Given the description of an element on the screen output the (x, y) to click on. 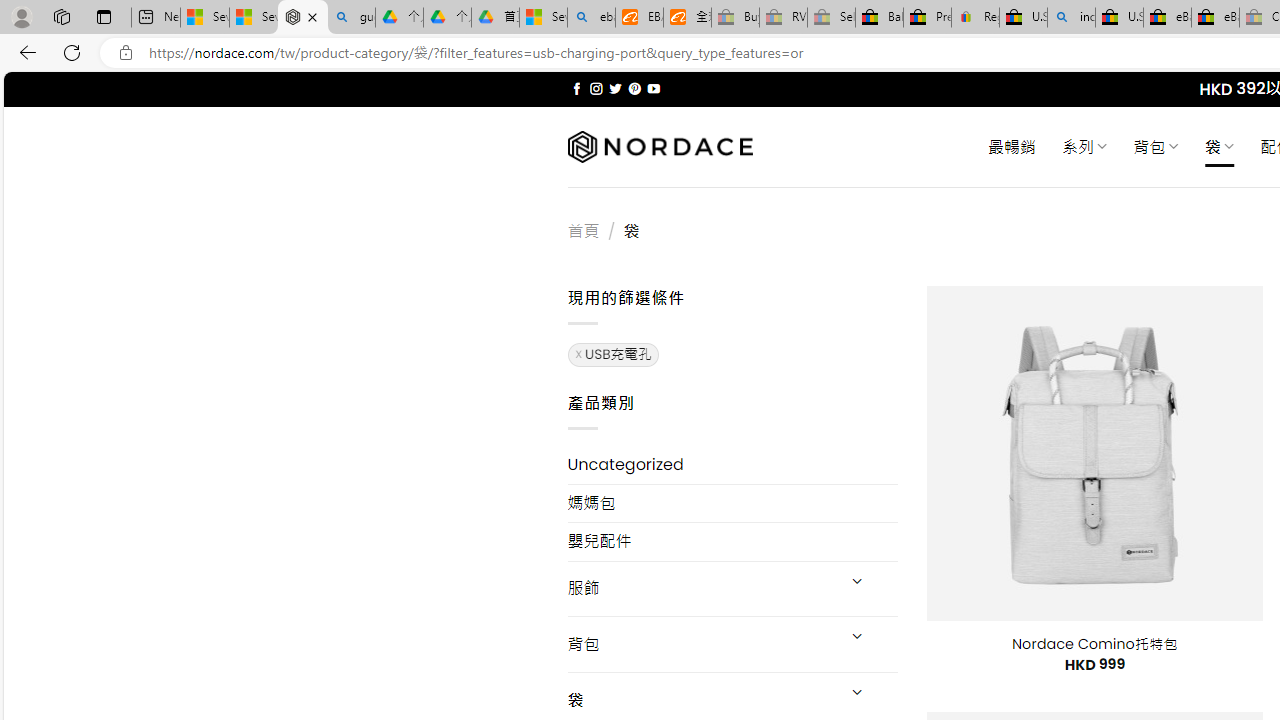
Baby Keepsakes & Announcements for sale | eBay (879, 17)
Follow on Facebook (576, 88)
U.S. State Privacy Disclosures - eBay Inc. (1119, 17)
Press Room - eBay Inc. (927, 17)
Uncategorized (732, 463)
including - Search (1071, 17)
